Given the description of an element on the screen output the (x, y) to click on. 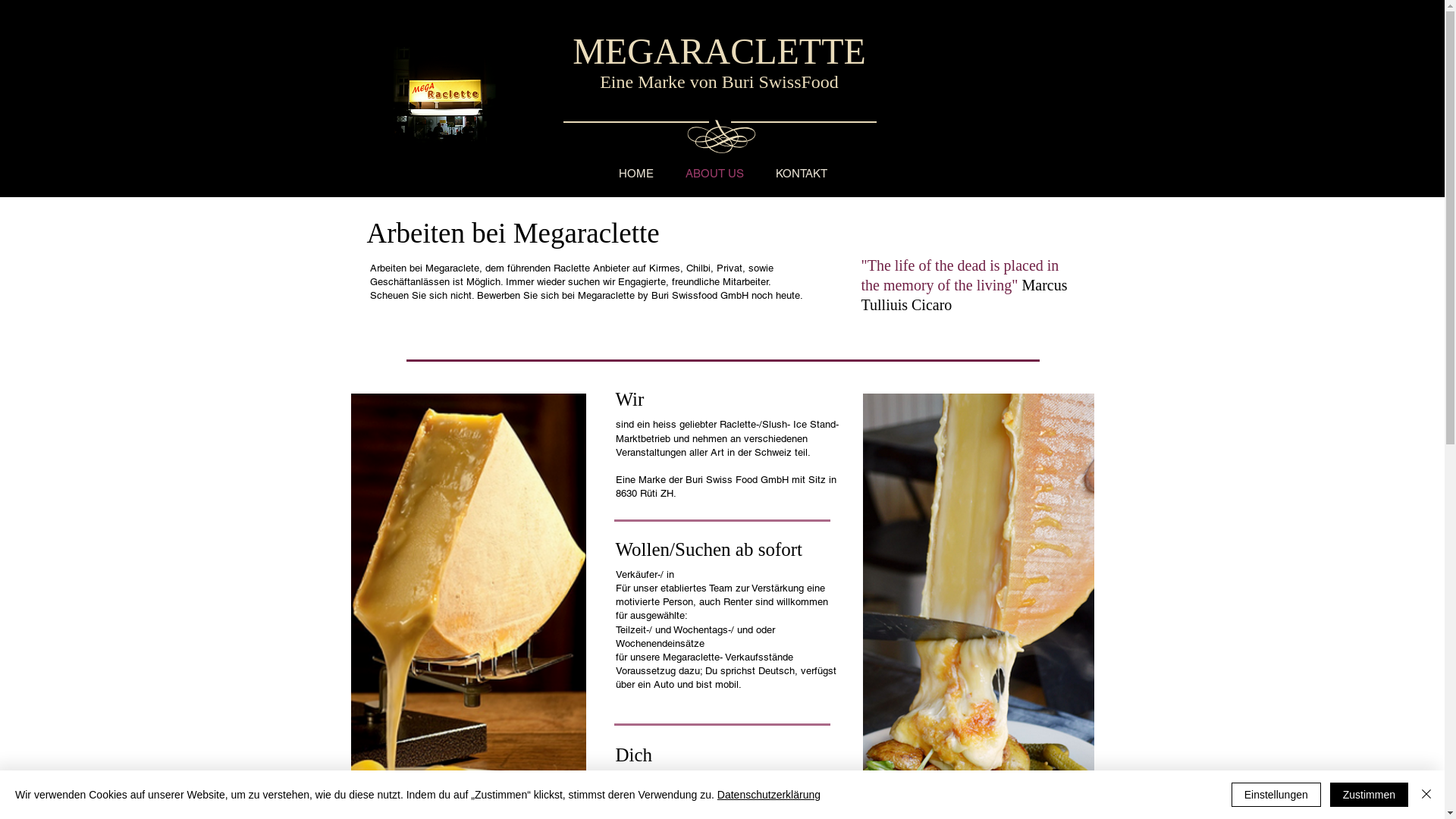
HOME Element type: text (635, 172)
ABOUT US Element type: text (714, 172)
Eine Marke von Buri SwissFood Element type: text (718, 81)
KONTAKT Element type: text (801, 172)
Einstellungen Element type: text (1276, 794)
Zustimmen Element type: text (1369, 794)
